Given the description of an element on the screen output the (x, y) to click on. 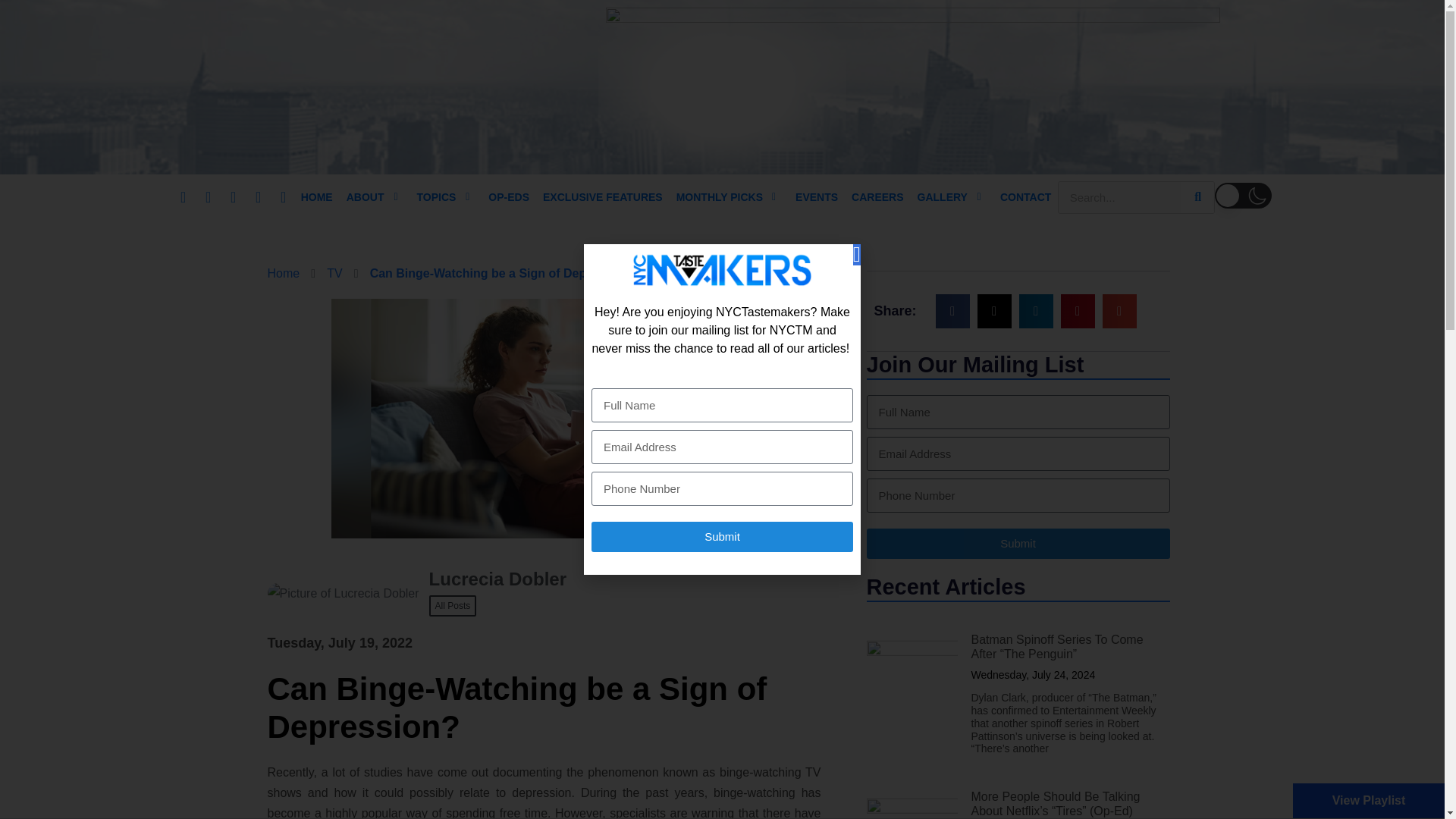
Home (282, 272)
Can Binge-Watching be a Sign of Depression? (503, 272)
OP-EDS (508, 197)
MONTHLY PICKS (721, 197)
HOME (317, 197)
ABOUT (367, 197)
EXCLUSIVE FEATURES (602, 197)
TOPICS (438, 197)
